Given the description of an element on the screen output the (x, y) to click on. 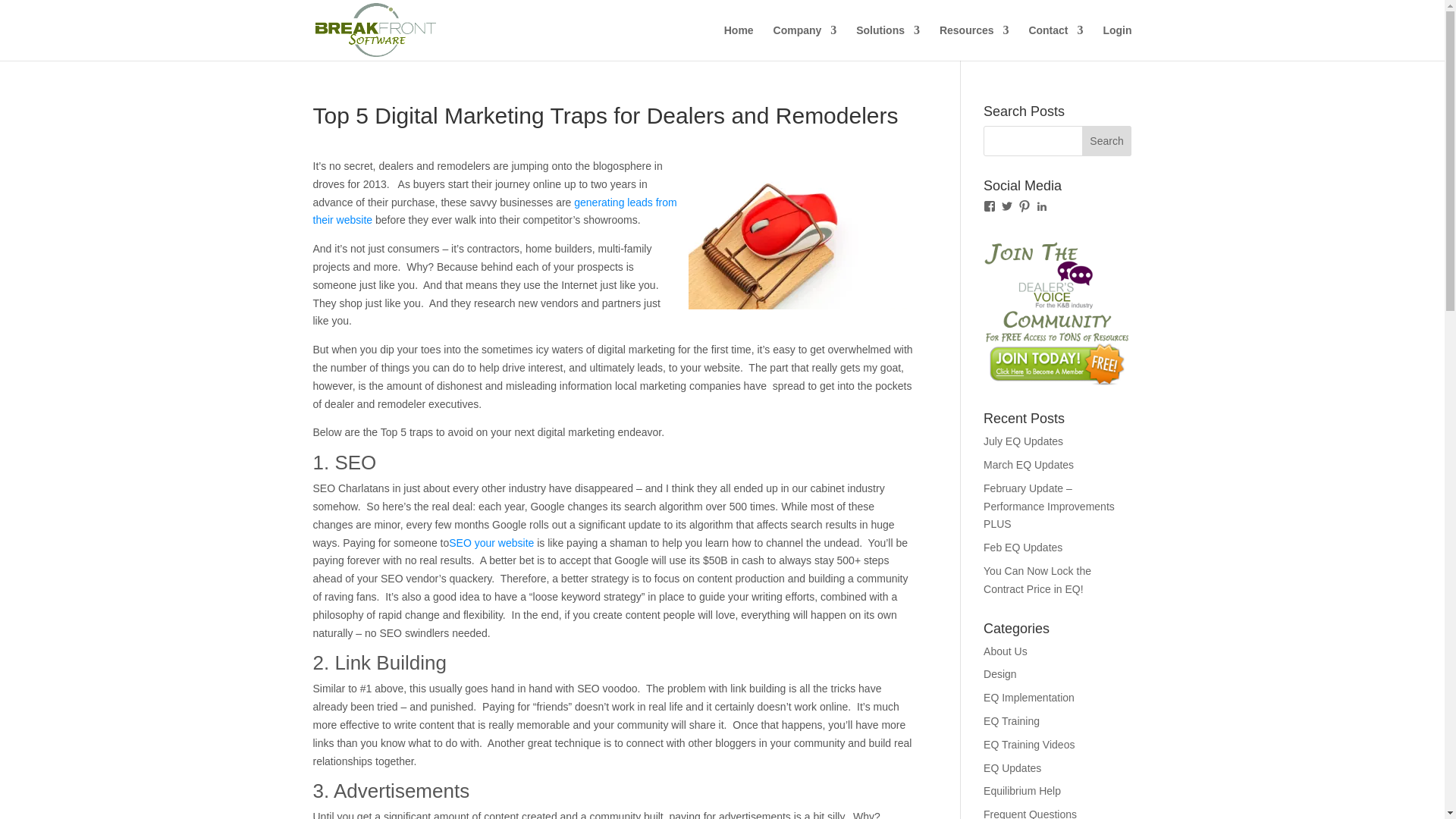
generating leads from their website (495, 211)
Contact (1055, 42)
SEO your website (491, 542)
Resources (974, 42)
Company (805, 42)
savvy businesses are generating leads from their website (495, 211)
SEO your website (491, 542)
Solutions (888, 42)
Search (1106, 141)
